Given the description of an element on the screen output the (x, y) to click on. 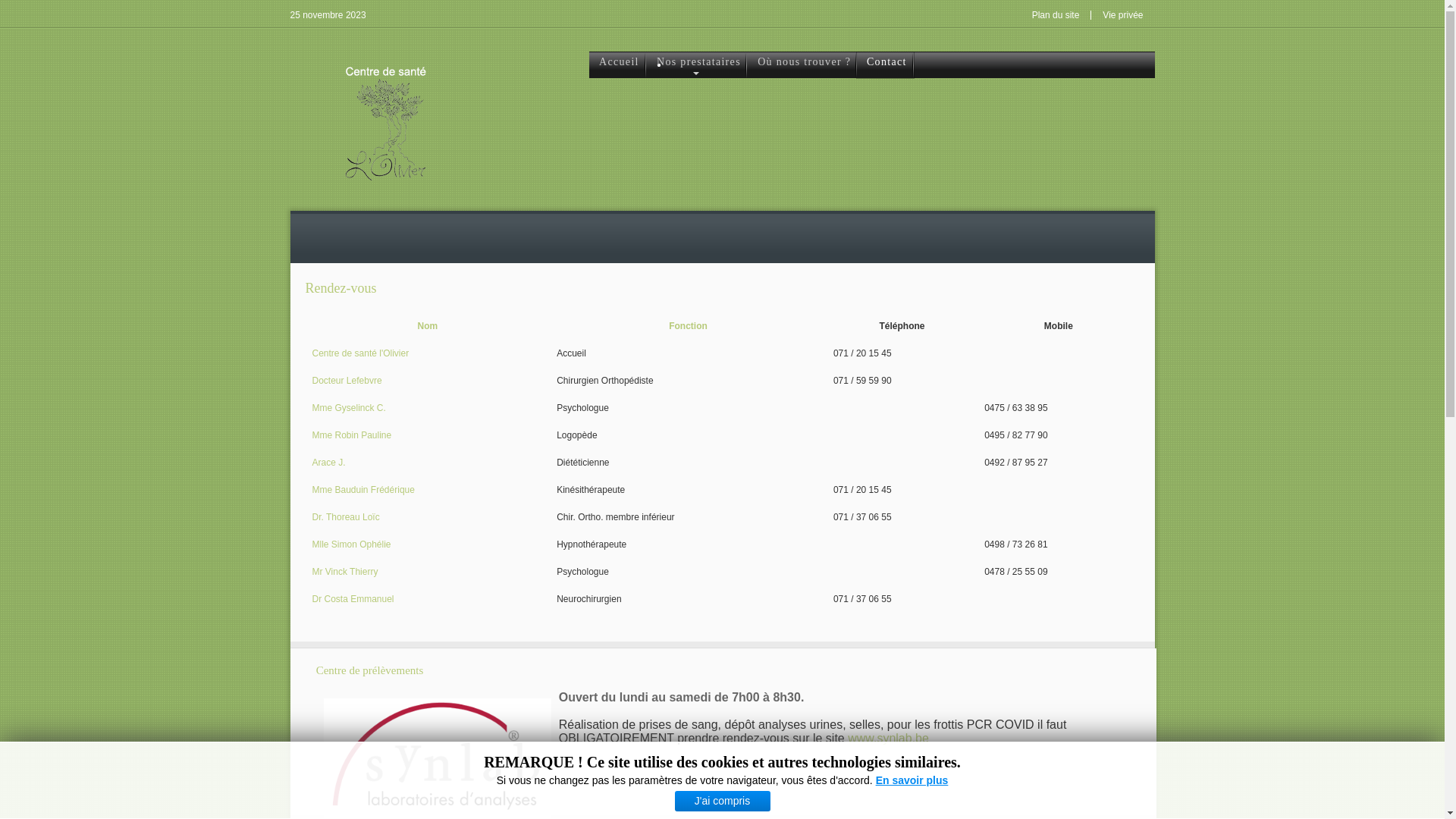
Docteur Lefebvre Element type: text (347, 380)
Fonction Element type: text (687, 325)
Mme Gyselinck C. Element type: text (348, 407)
Arace J. Element type: text (328, 462)
Contact Element type: text (885, 65)
www.synlab.be Element type: text (887, 737)
Plan du site Element type: text (1055, 14)
Nom Element type: text (427, 325)
Mr Vinck Thierry Element type: text (345, 571)
Mme Robin Pauline Element type: text (352, 434)
Accueil Element type: text (617, 65)
Dr Costa Emmanuel Element type: text (353, 598)
